Given the description of an element on the screen output the (x, y) to click on. 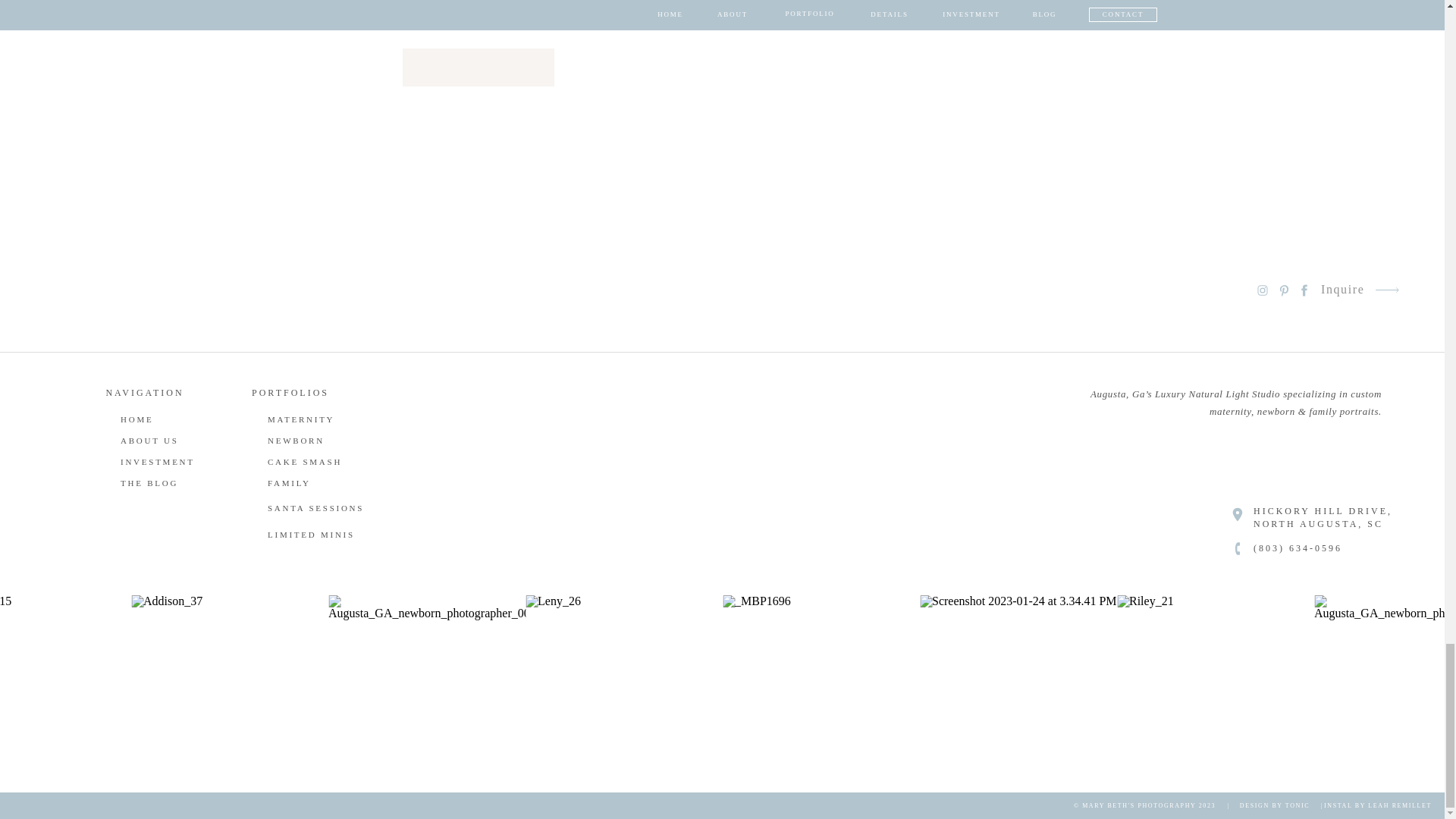
arrow (1386, 289)
Screenshot 2023-01-24 at 3.34.41 PM (1018, 693)
